Given the description of an element on the screen output the (x, y) to click on. 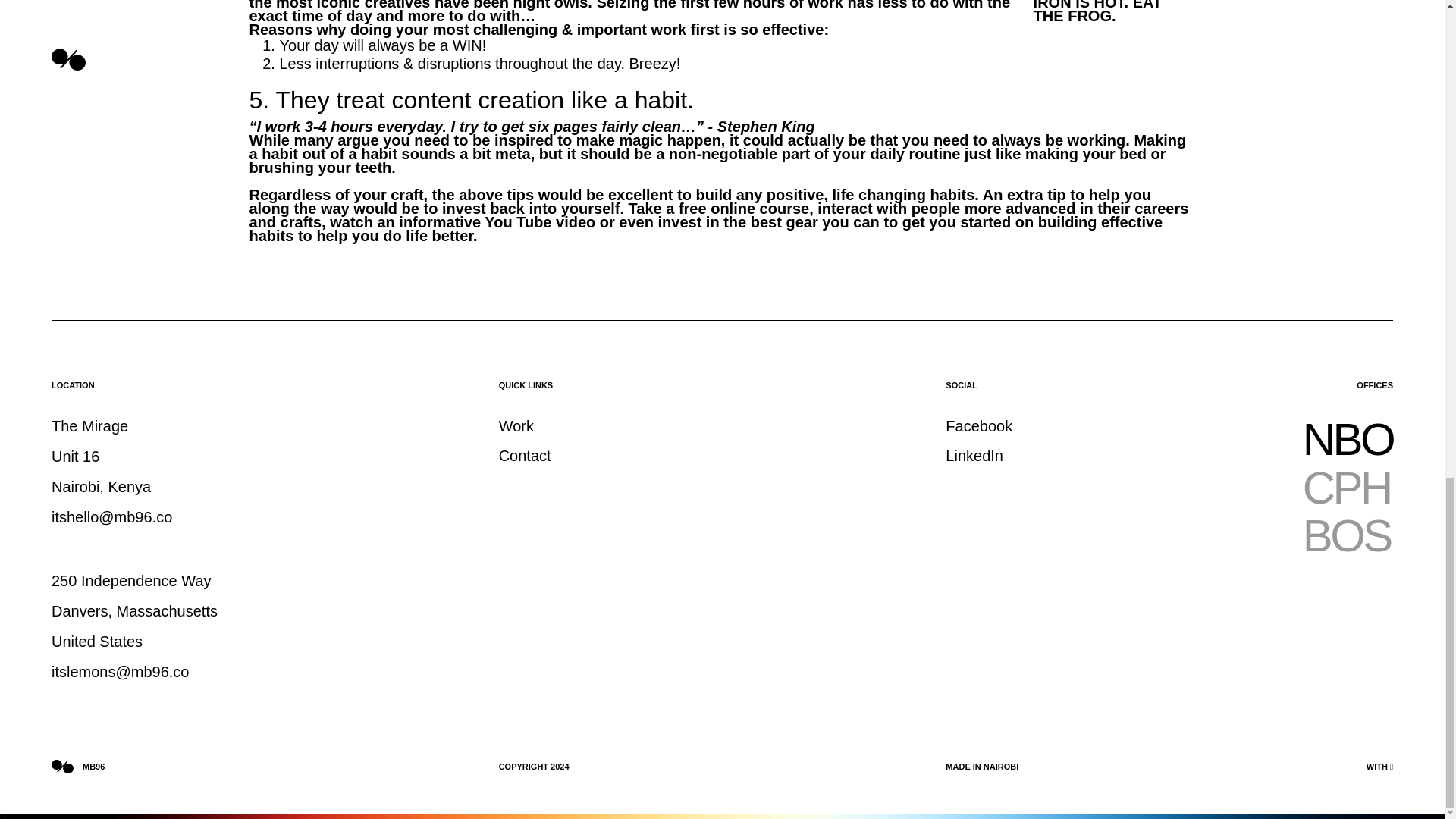
Facebook (977, 429)
Contact (525, 458)
Work (516, 429)
LinkedIn (973, 458)
